Given the description of an element on the screen output the (x, y) to click on. 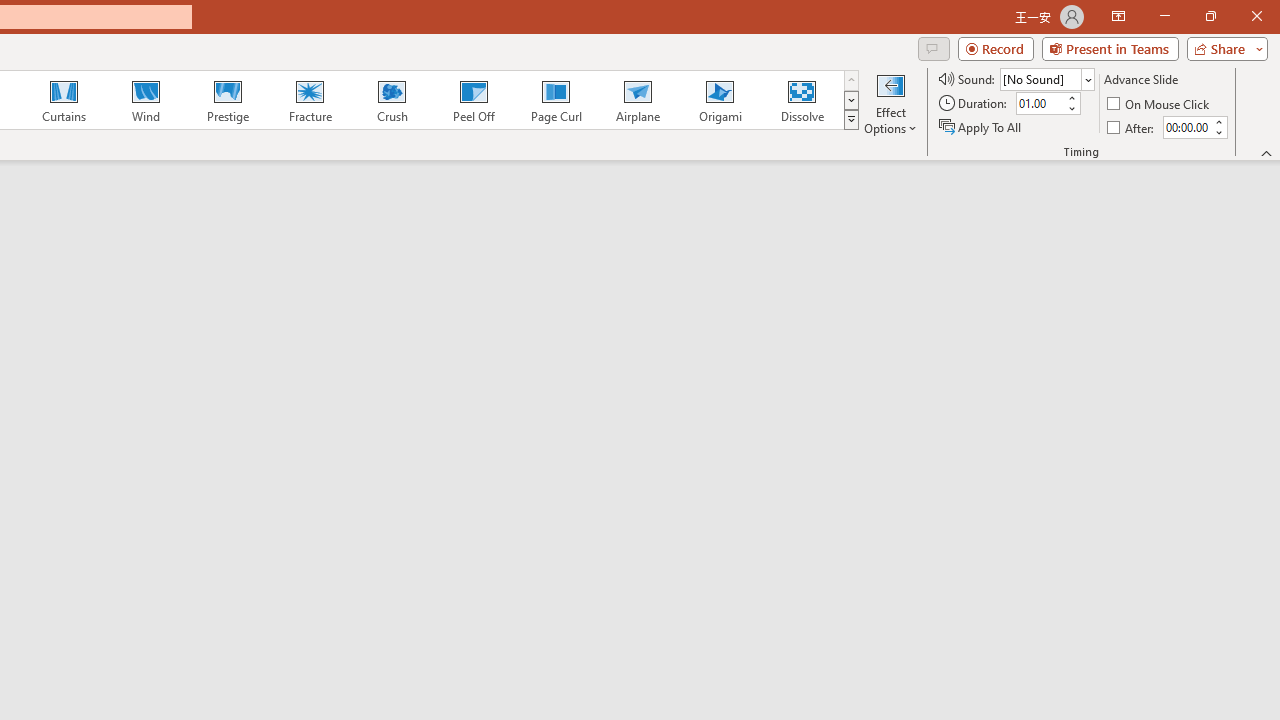
Wind (145, 100)
Sound (1046, 78)
Transition Effects (850, 120)
Duration (1039, 103)
Origami (719, 100)
